Given the description of an element on the screen output the (x, y) to click on. 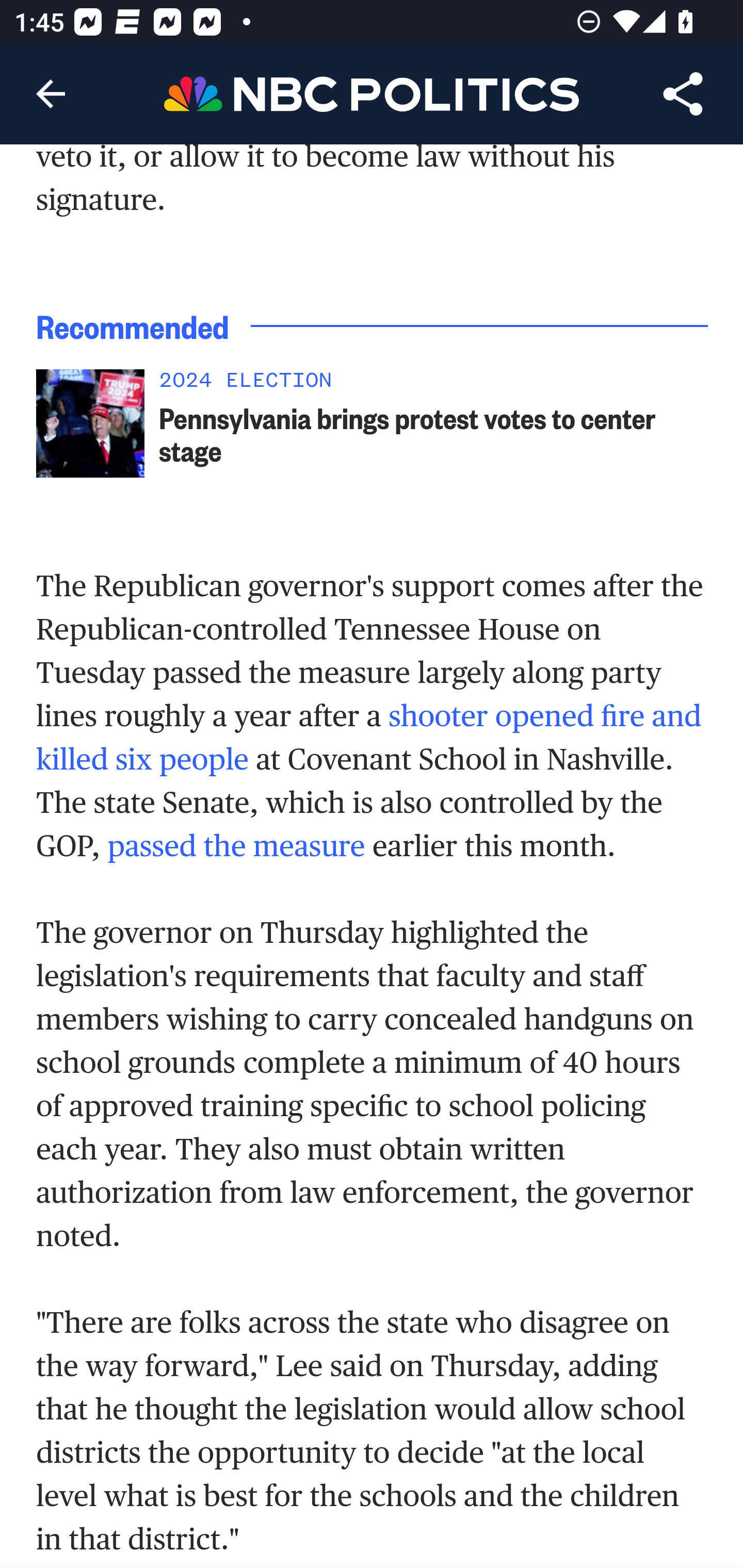
Navigate up (50, 93)
Share Article, button (683, 94)
Header, NBC Politics (371, 93)
2024 ELECTION (434, 386)
pennsylvania-trump-biden-protest-votes-rcna149261 (90, 424)
Pennsylvania brings protest votes to center stage (434, 435)
shooter opened fire and killed six people  (369, 737)
passed the measure (236, 845)
